Given the description of an element on the screen output the (x, y) to click on. 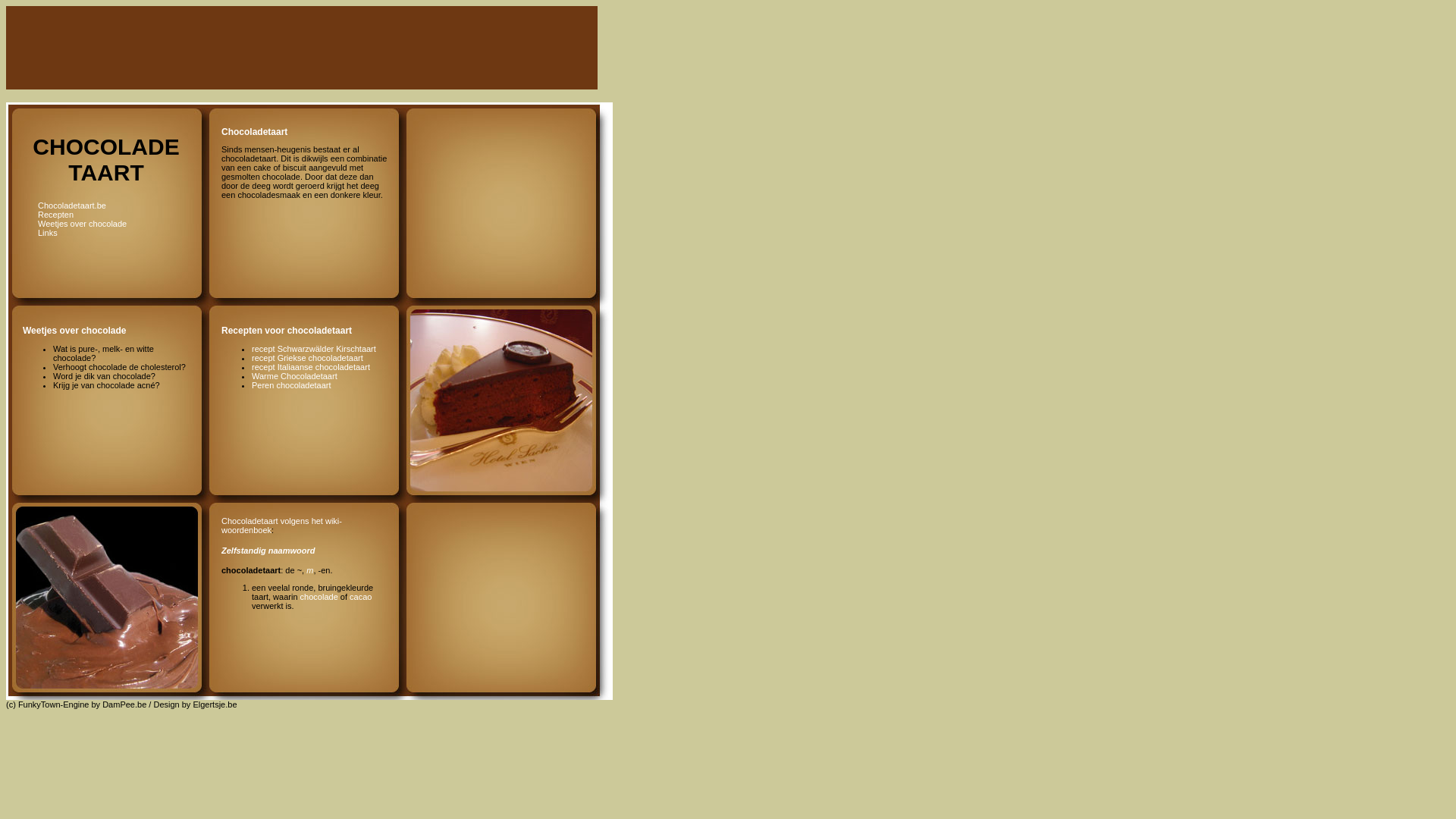
chocolade Element type: text (319, 596)
Links Element type: text (47, 232)
Weetjes over chocolade Element type: text (81, 223)
Chocoladetaart.be Element type: text (71, 205)
DamPee.be Element type: text (124, 704)
Zelfstandig naamwoord Element type: text (267, 550)
Peren chocoladetaart Element type: text (291, 384)
Recepten Element type: text (55, 214)
recept Griekse chocoladetaart Element type: text (307, 357)
recept Italiaanse chocoladetaart Element type: text (310, 366)
Advertisement Element type: hover (316, 49)
Warme Chocoladetaart Element type: text (294, 375)
Elgertsje.be Element type: text (214, 704)
m Element type: text (309, 569)
cacao Element type: text (360, 596)
Chocoladetaart volgens het wiki-woordenboek Element type: text (281, 525)
Advertisement Element type: hover (495, 153)
Weetjes over chocolade Element type: text (74, 330)
